Given the description of an element on the screen output the (x, y) to click on. 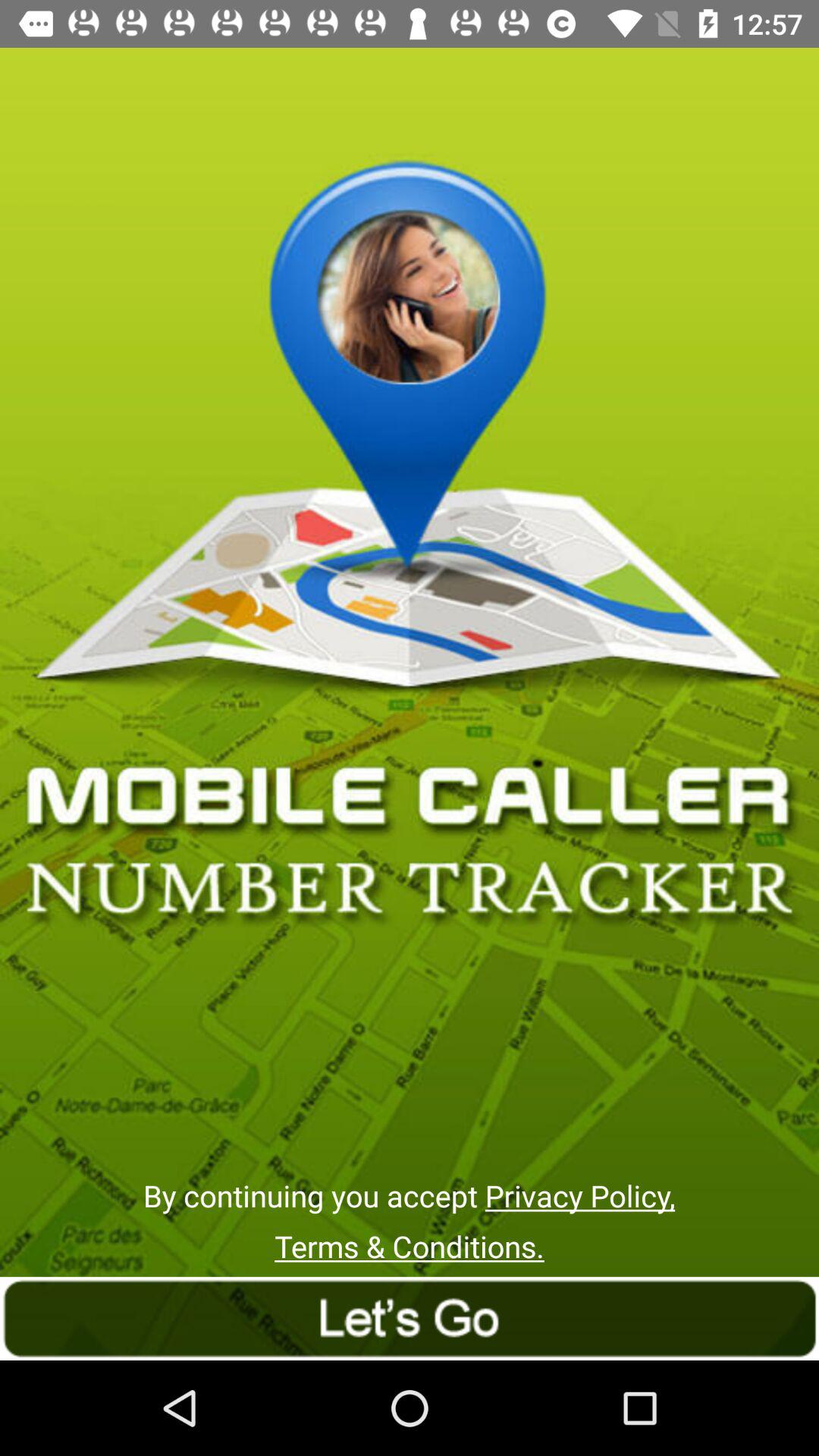
open by continuing you item (409, 1195)
